Given the description of an element on the screen output the (x, y) to click on. 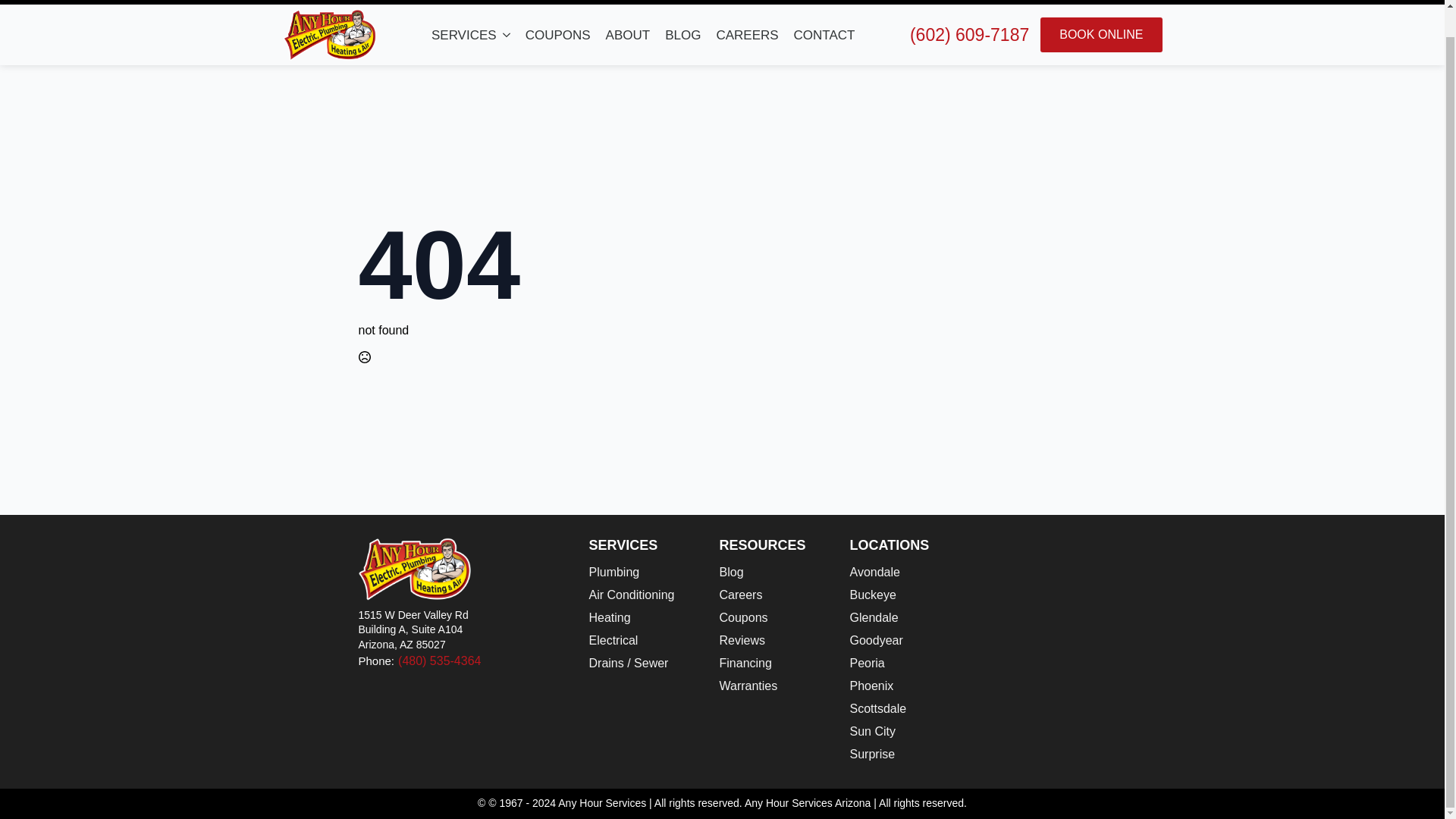
COUPONS (558, 34)
ABOUT (628, 34)
CAREERS (746, 34)
CONTACT (824, 34)
BOOK ONLINE (1101, 34)
SERVICES (459, 34)
BLOG (682, 34)
